Given the description of an element on the screen output the (x, y) to click on. 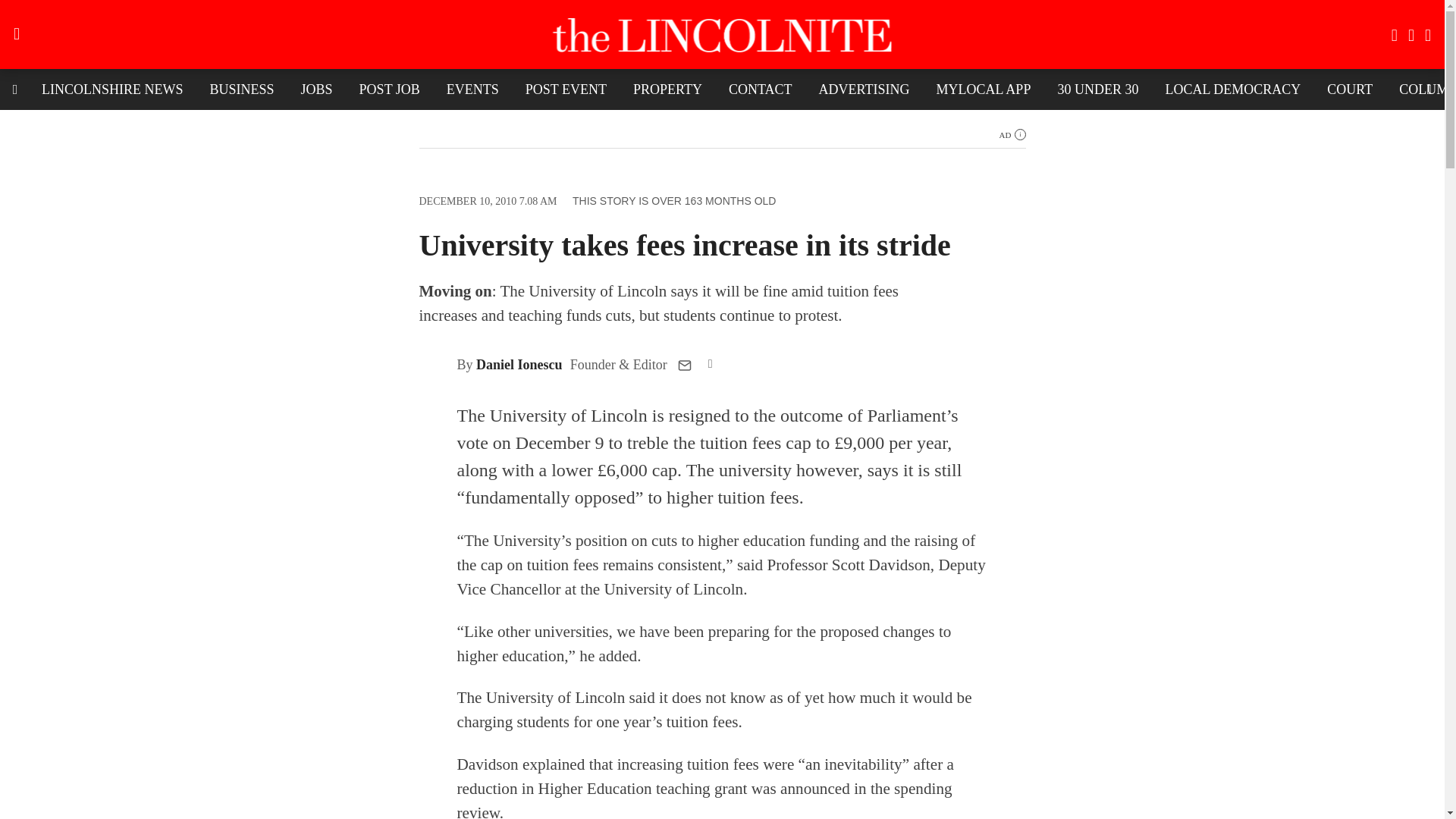
POST EVENT (565, 88)
COURT (1350, 88)
BUSINESS (241, 88)
ADVERTISING (864, 88)
POST JOB (388, 88)
LOCAL DEMOCRACY (1232, 88)
MYLOCAL APP (983, 88)
CONTACT (760, 88)
JOBS (316, 88)
Contact author (684, 365)
